Given the description of an element on the screen output the (x, y) to click on. 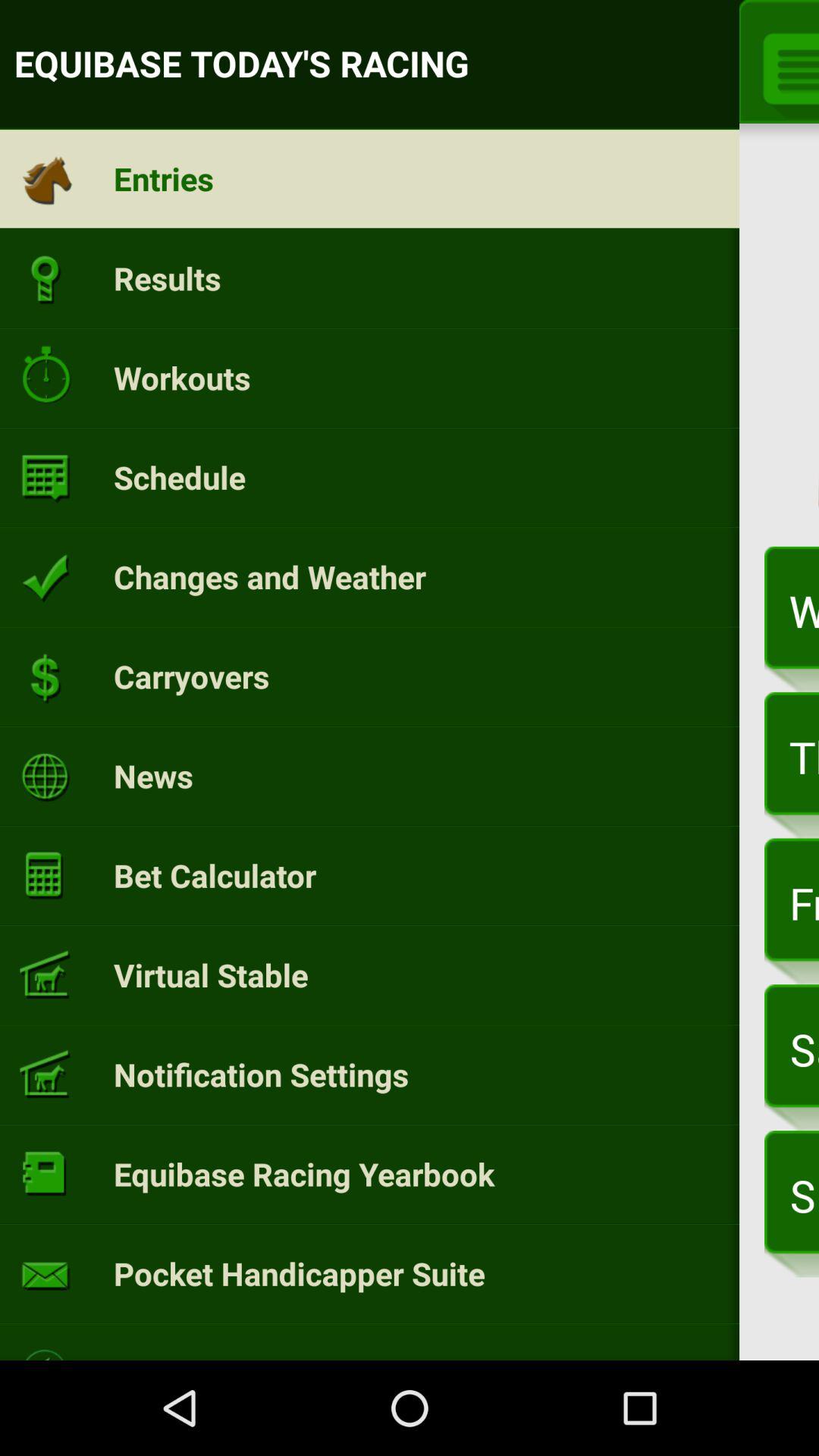
open the item next to equibase today s icon (785, 66)
